Given the description of an element on the screen output the (x, y) to click on. 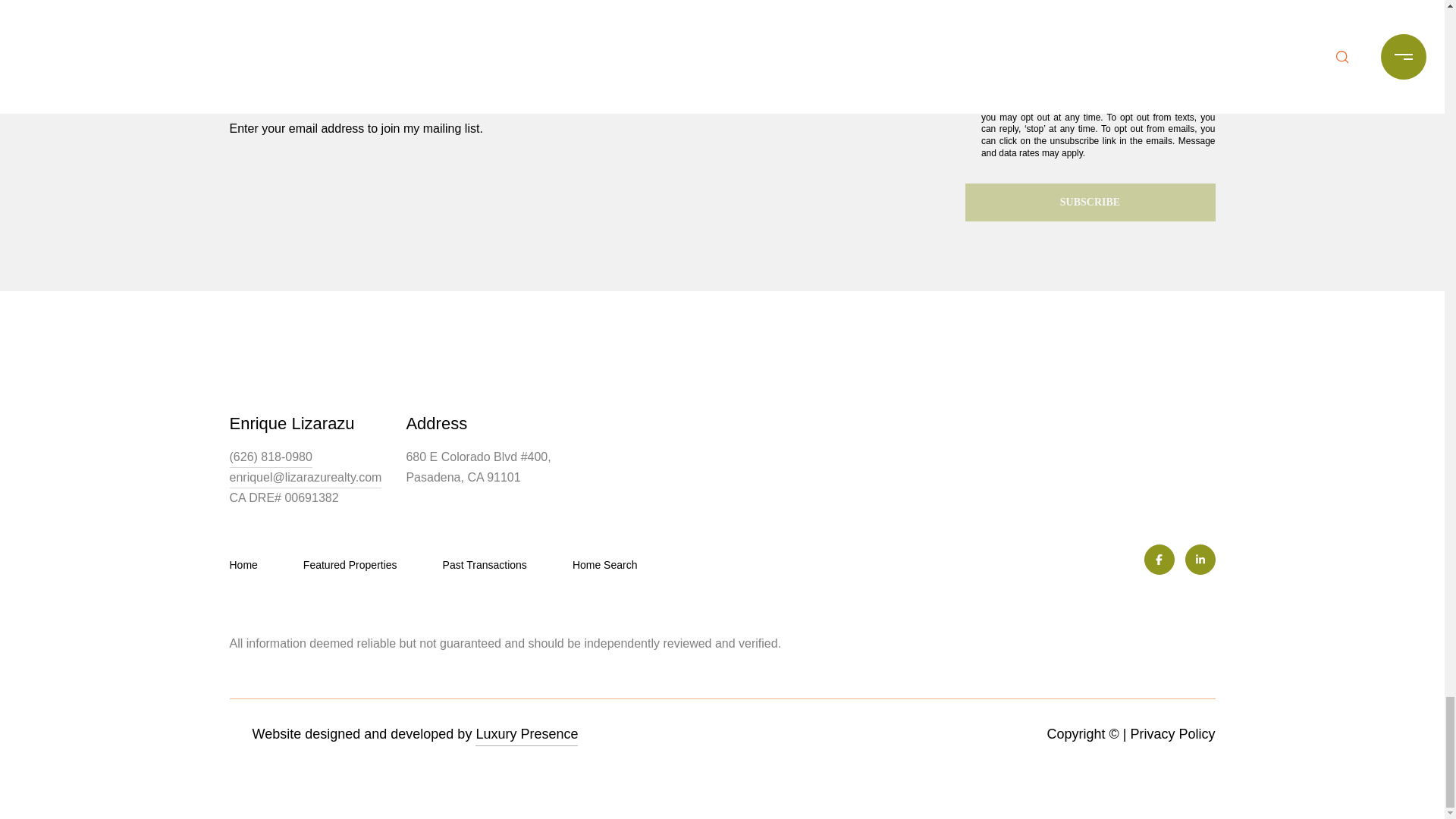
on (968, 46)
